Given the description of an element on the screen output the (x, y) to click on. 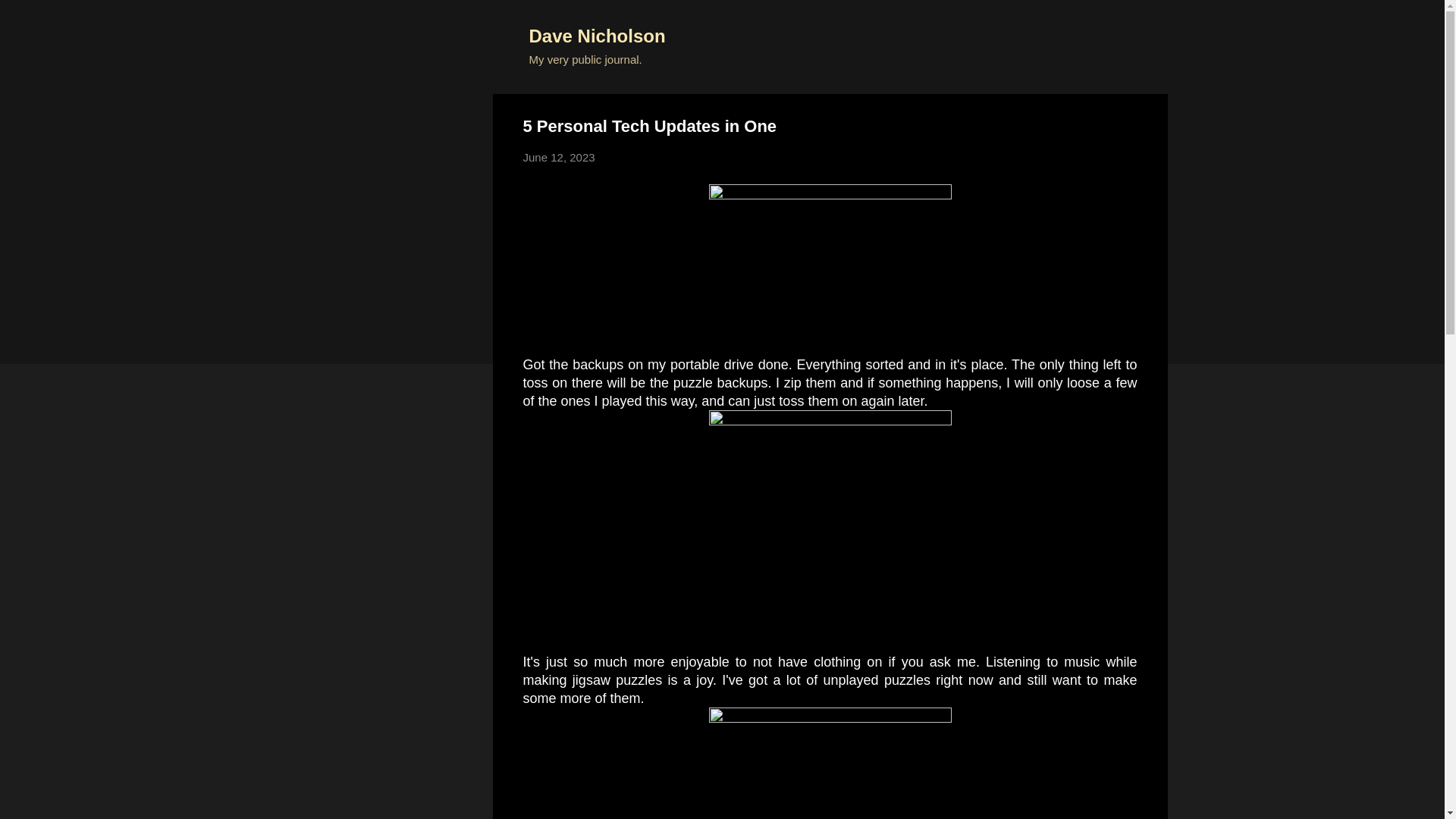
permanent link (558, 156)
Search (29, 18)
June 12, 2023 (558, 156)
Dave Nicholson (597, 35)
